Given the description of an element on the screen output the (x, y) to click on. 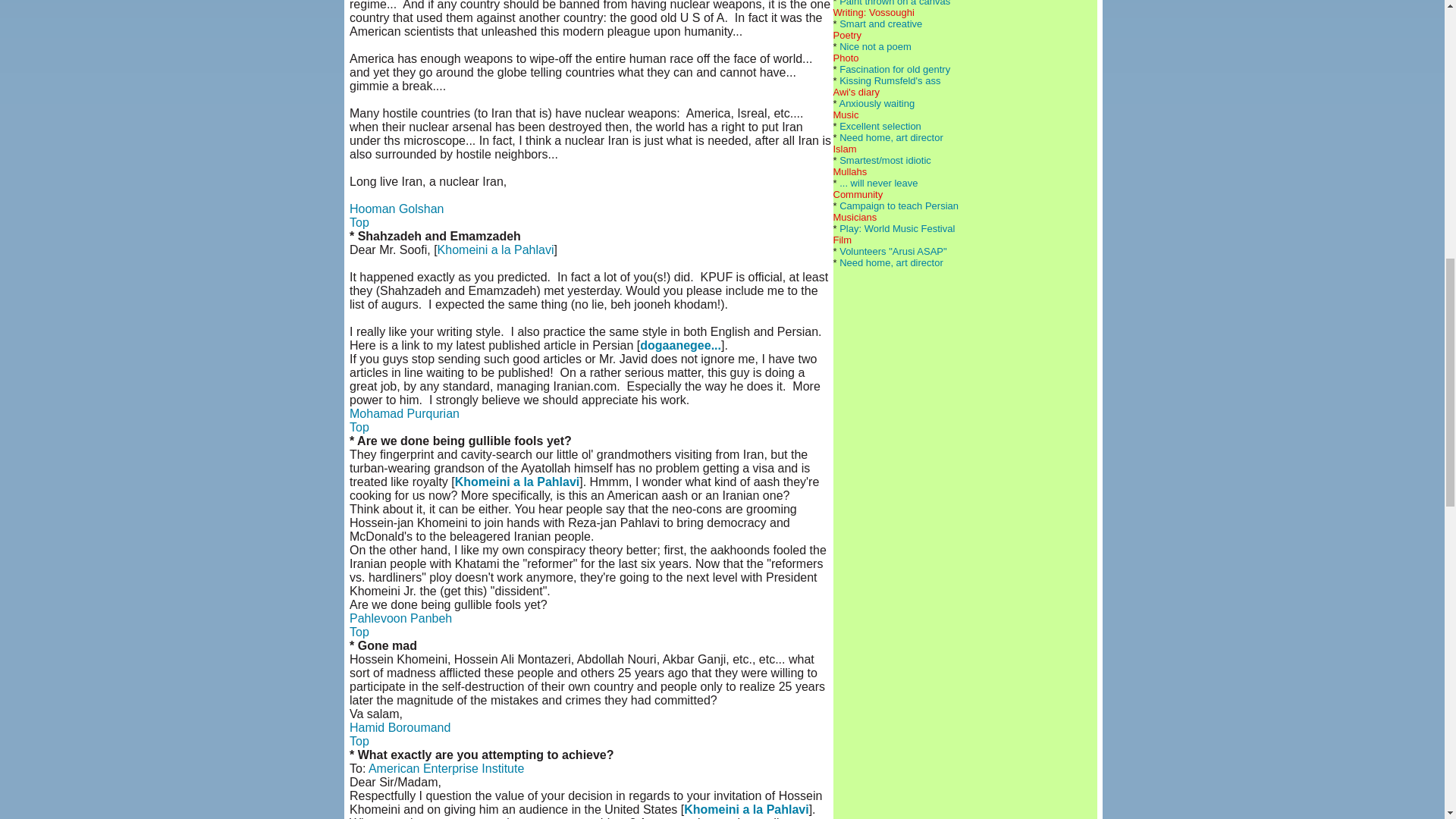
Pahlevoon Panbeh (400, 617)
Top (359, 740)
Hamid Boroumand (399, 727)
Top (359, 222)
Khomeini a la Pahlavi (516, 481)
Top (359, 631)
Hooman Golshan (396, 208)
Mohamad Purqurian (404, 413)
American Enterprise Institute (446, 768)
Khomeini a la Pahlavi (746, 809)
dogaanegee... (680, 345)
Top (359, 427)
Khomeini a la Pahlavi (496, 249)
